Given the description of an element on the screen output the (x, y) to click on. 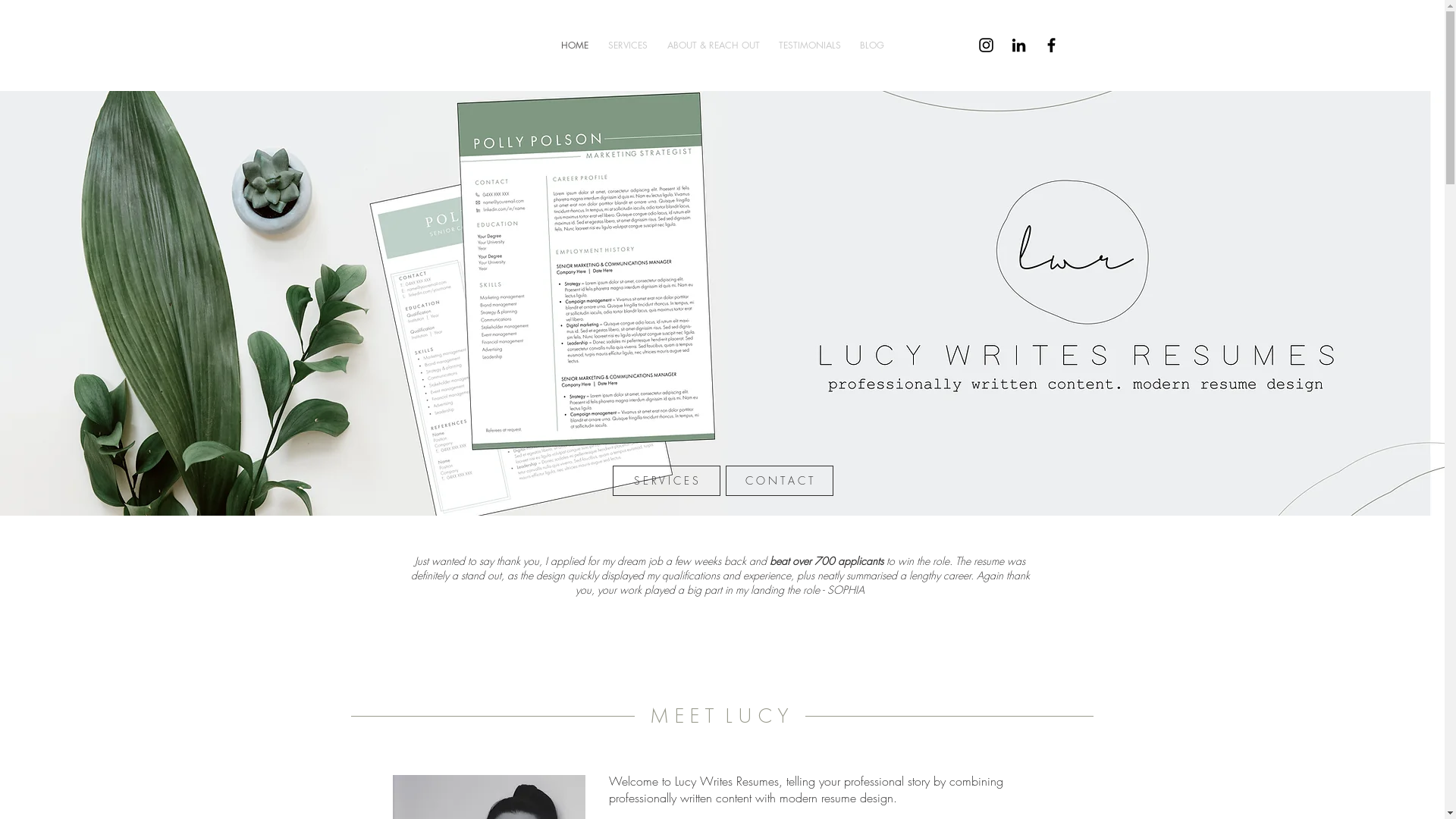
S E R V I C E S Element type: text (666, 480)
ABOUT & REACH OUT Element type: text (712, 44)
BLOG Element type: text (872, 44)
SERVICES Element type: text (626, 44)
TESTIMONIALS Element type: text (809, 44)
HOME Element type: text (573, 44)
C O N T A C T Element type: text (778, 480)
